Given the description of an element on the screen output the (x, y) to click on. 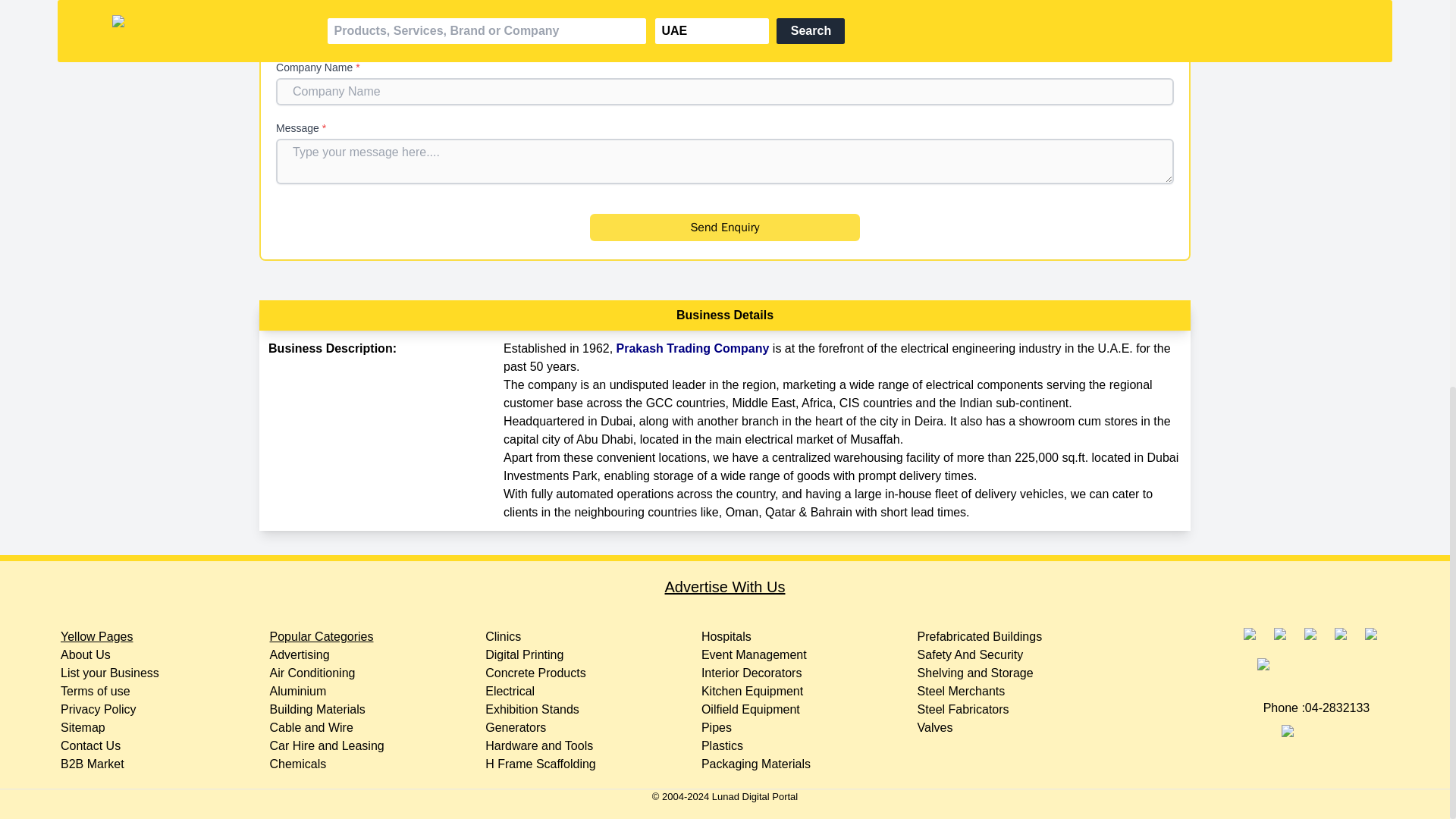
About Us (85, 654)
Sitemap (82, 727)
Building Materials (317, 708)
Car Hire and Leasing (326, 745)
Privacy Policy (98, 708)
Cable and Wire (311, 727)
B2B Market (92, 763)
Air Conditioning (312, 672)
Prakash Trading Company (692, 348)
Send Enquiry (724, 226)
